Given the description of an element on the screen output the (x, y) to click on. 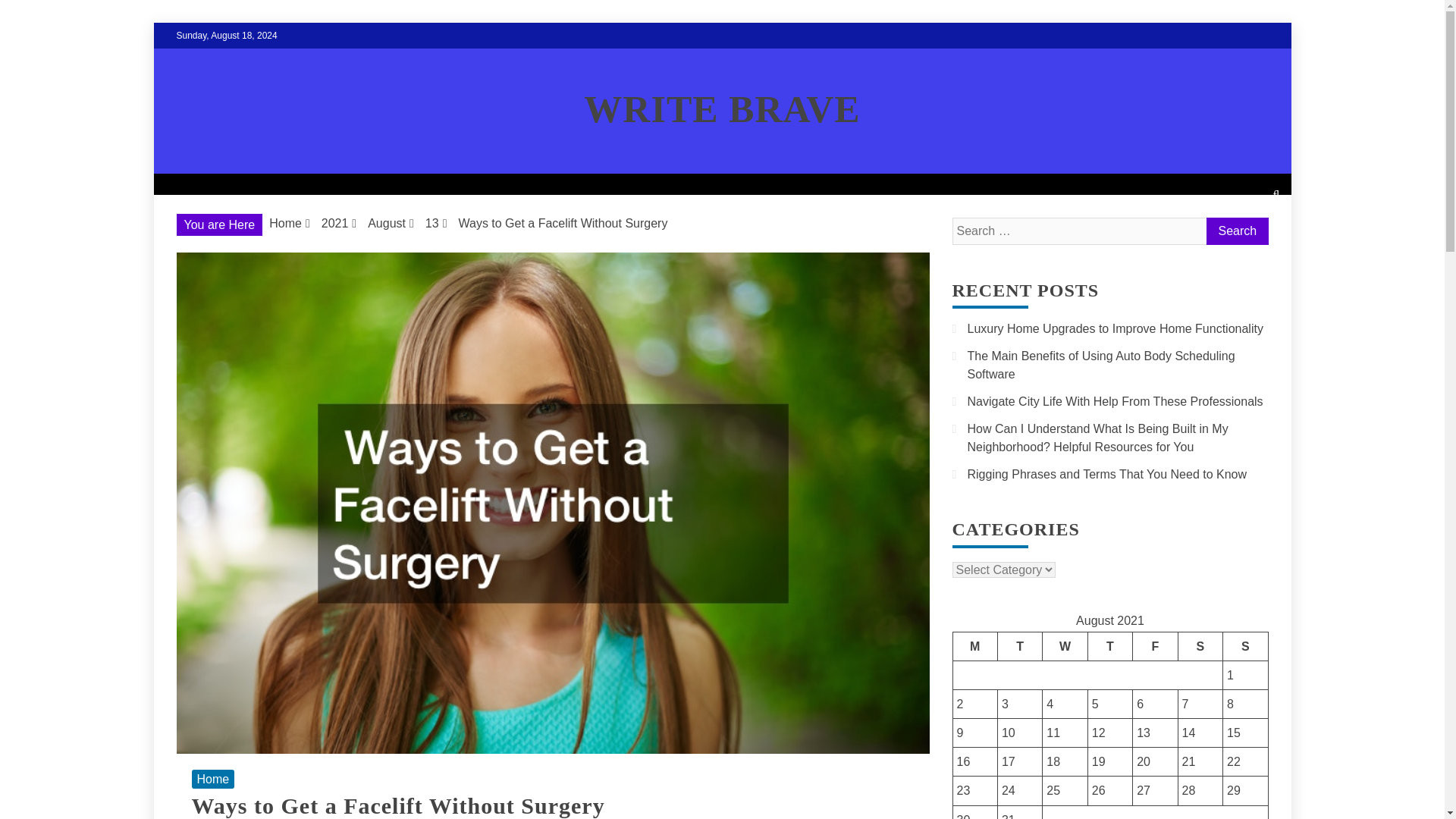
Rigging Phrases and Terms That You Need to Know (1107, 473)
13 (432, 223)
13 (1143, 732)
Thursday (1109, 645)
Search (1236, 230)
Tuesday (1019, 645)
Luxury Home Upgrades to Improve Home Functionality (1115, 328)
Wednesday (1064, 645)
